Given the description of an element on the screen output the (x, y) to click on. 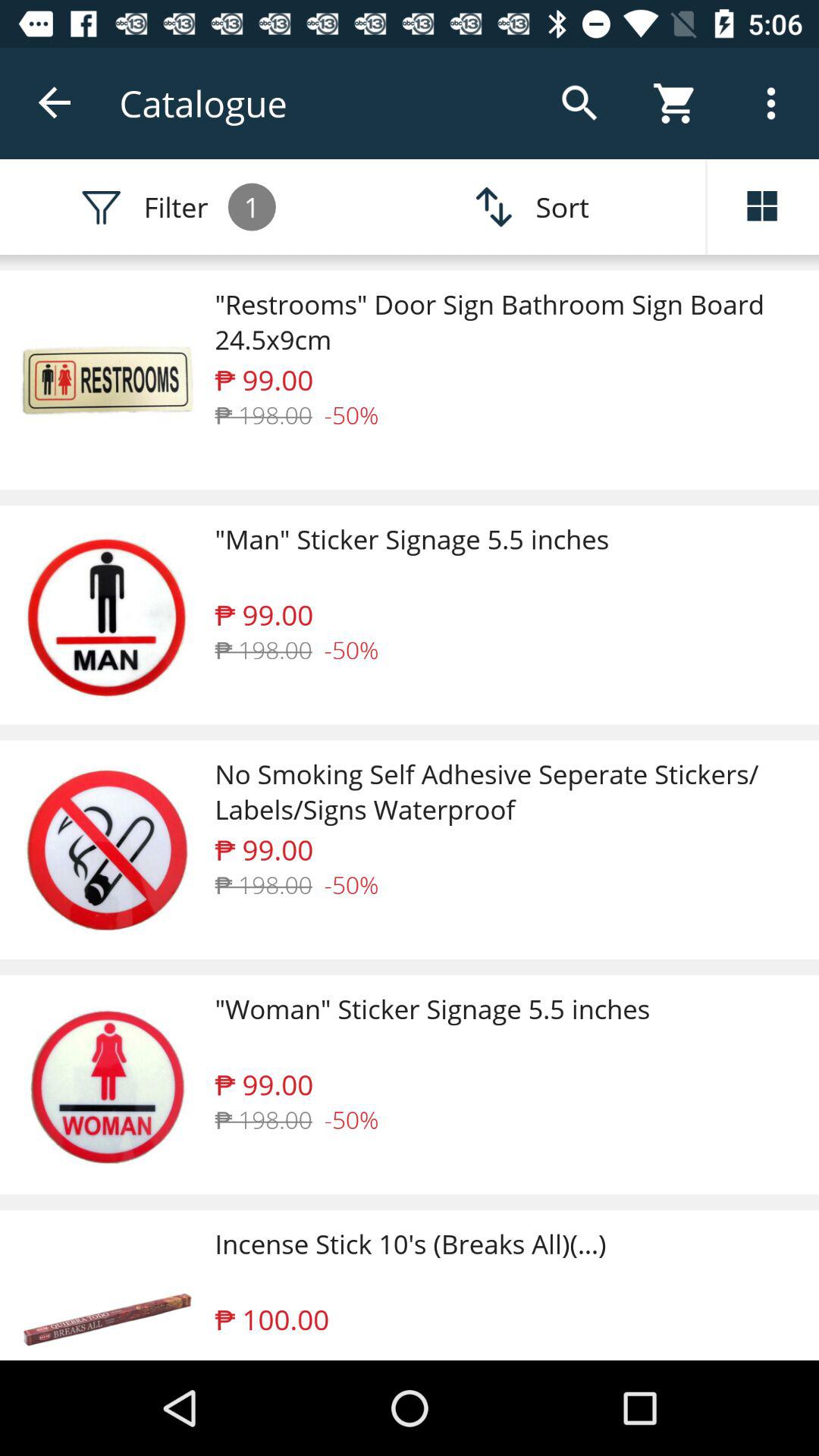
more options (763, 206)
